Given the description of an element on the screen output the (x, y) to click on. 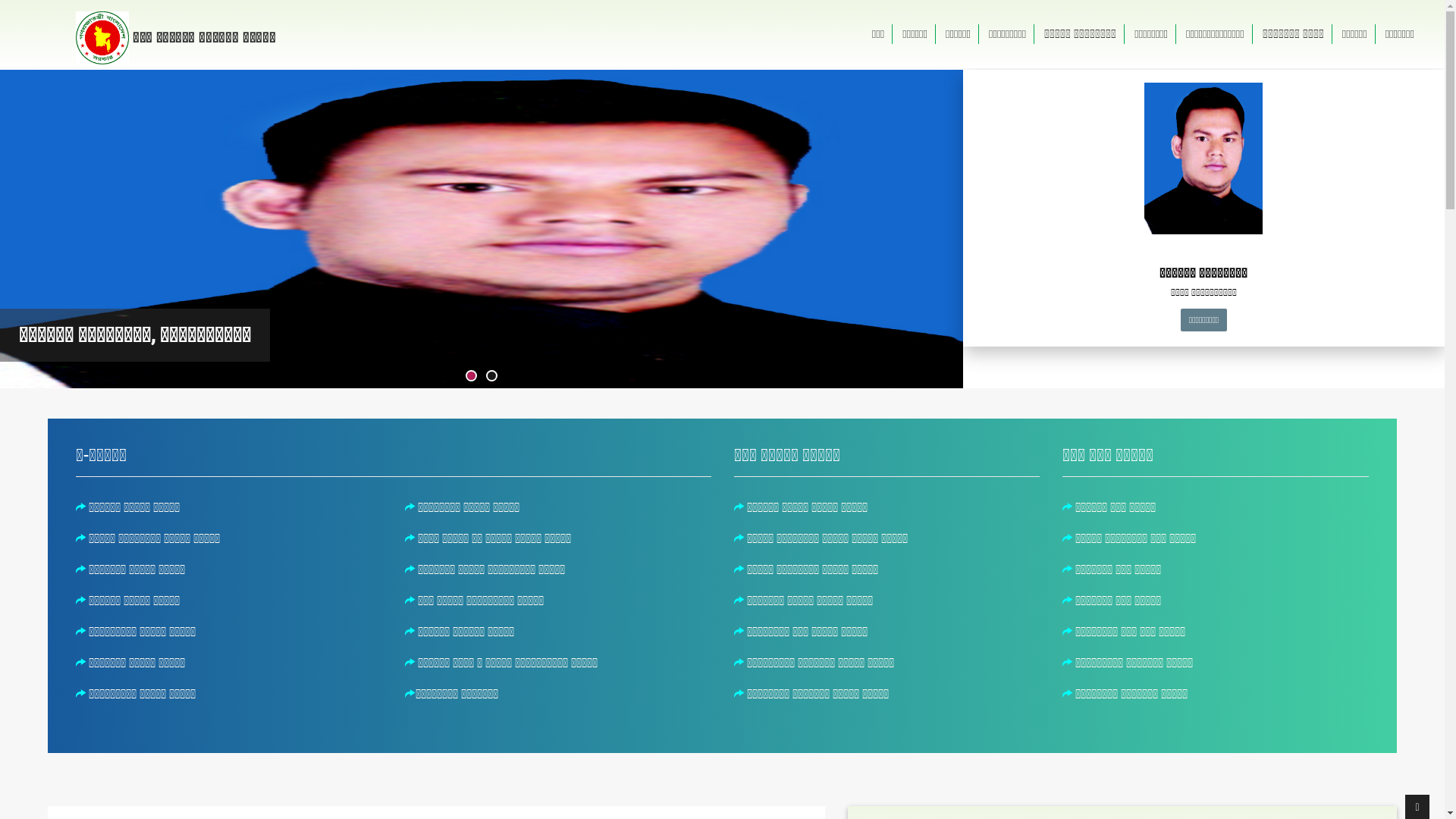
2 Element type: text (491, 375)
1 Element type: text (471, 375)
